Given the description of an element on the screen output the (x, y) to click on. 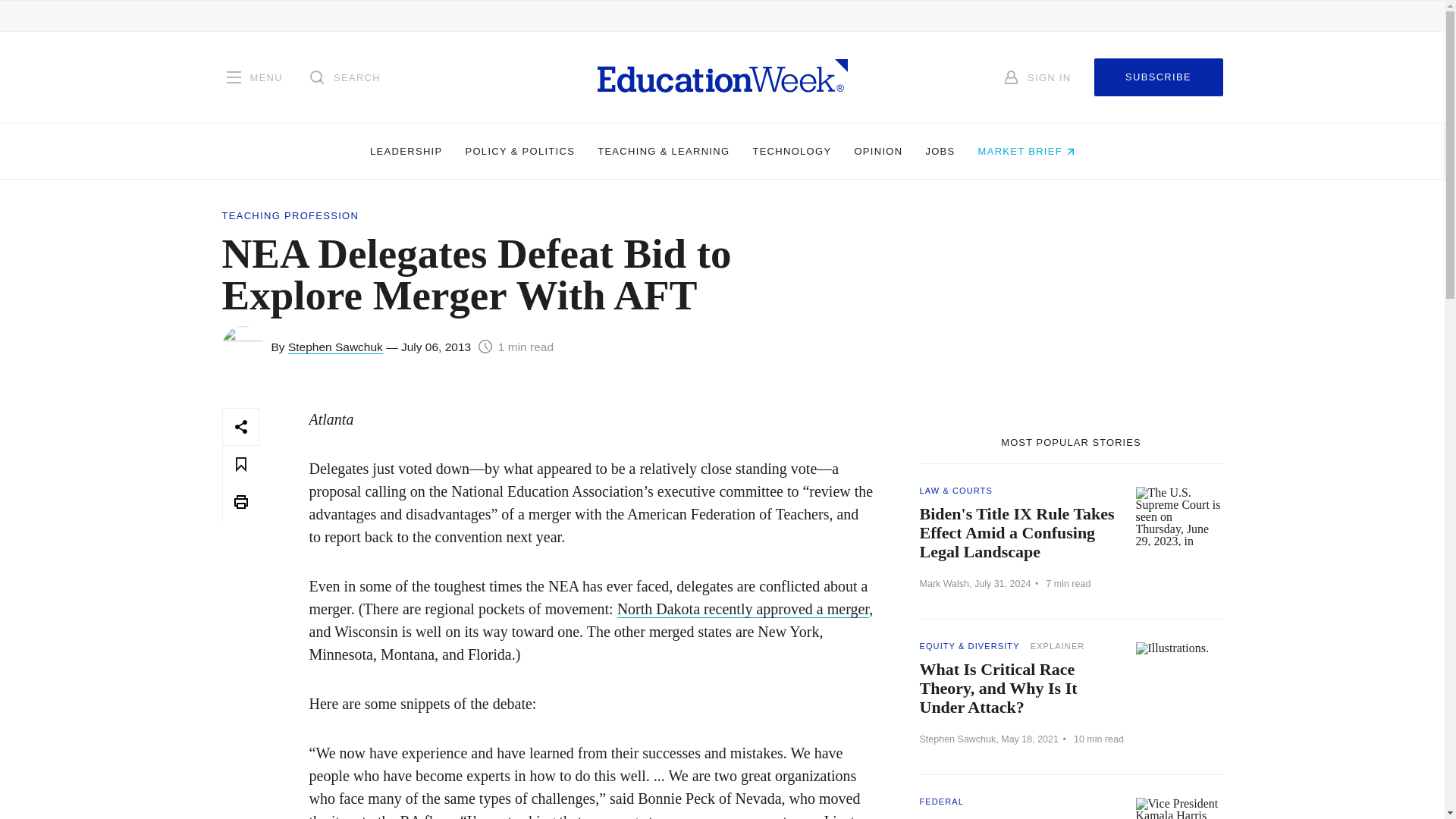
Homepage (721, 76)
